Given the description of an element on the screen output the (x, y) to click on. 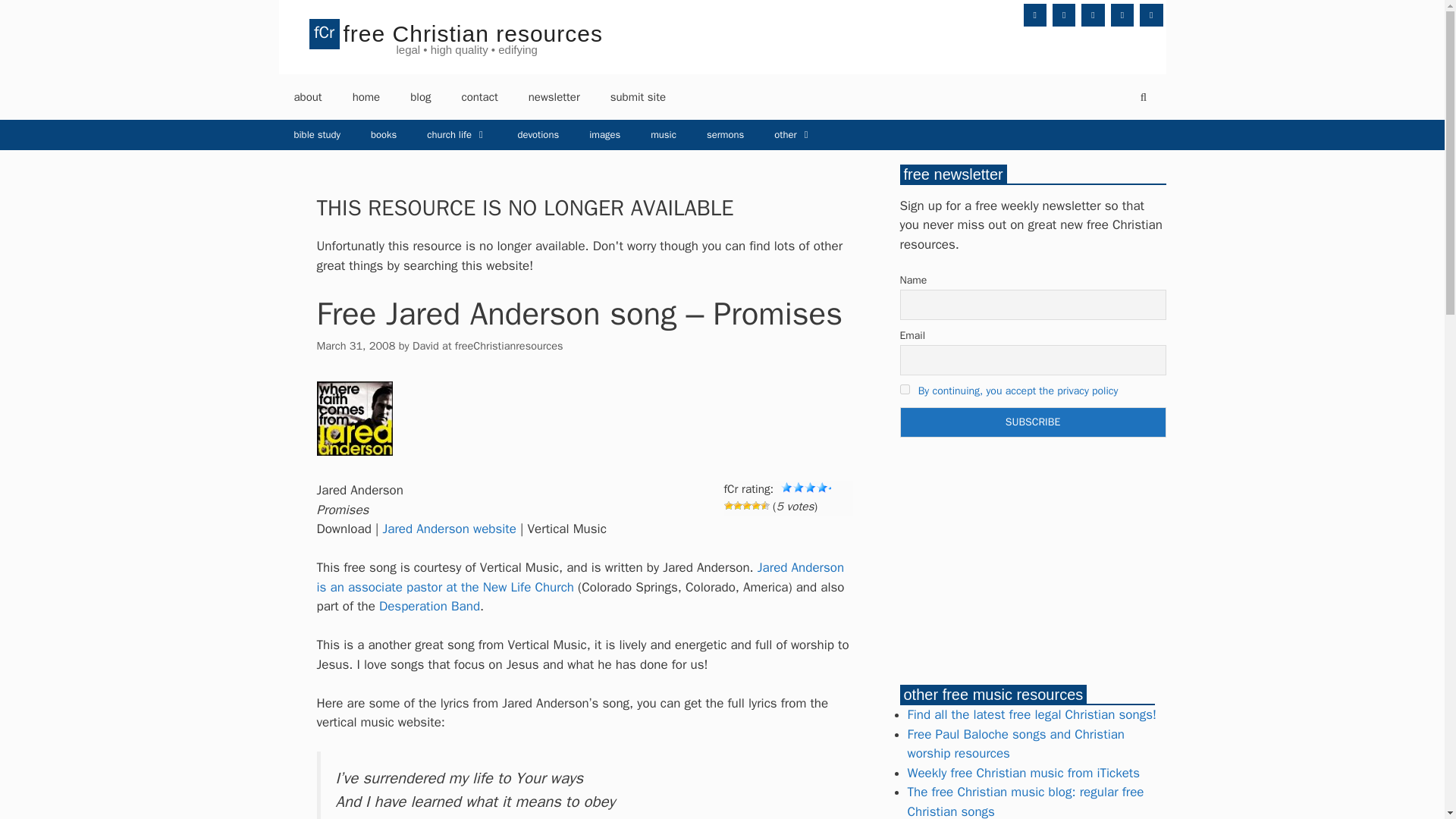
5 Stars (764, 505)
blog (419, 96)
4 Stars (755, 505)
Subscribe (1032, 422)
4.0 out of 5 (806, 487)
other (792, 134)
submit site (638, 96)
free Christian resources (472, 33)
David at freeChristianresources (487, 345)
View all posts by David at freeChristianresources (487, 345)
images (603, 134)
RSS (1092, 15)
Twitter (1063, 15)
Facebook (1034, 15)
Jared Anderson website (448, 528)
